Given the description of an element on the screen output the (x, y) to click on. 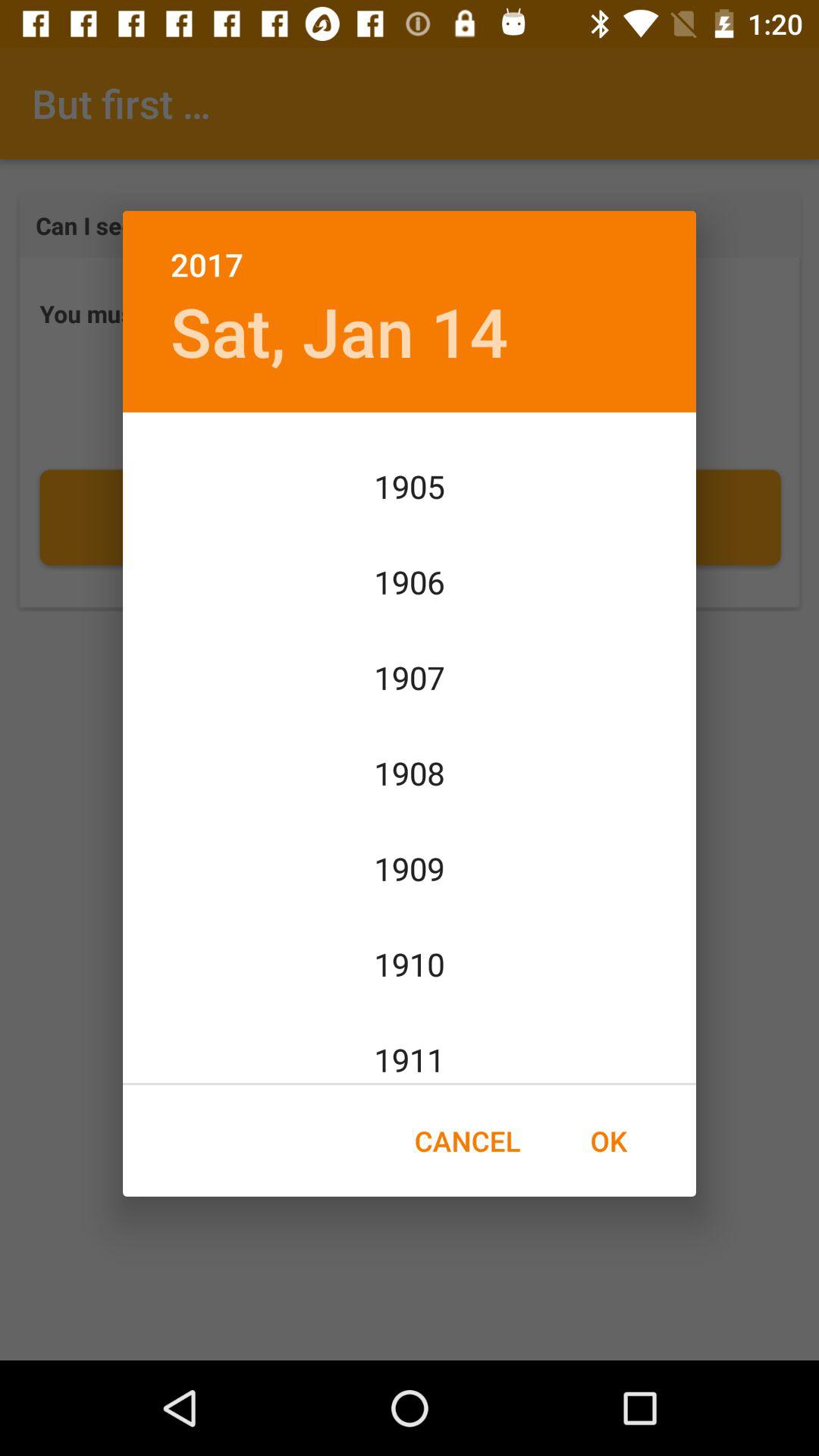
press icon below 1911 (608, 1140)
